Given the description of an element on the screen output the (x, y) to click on. 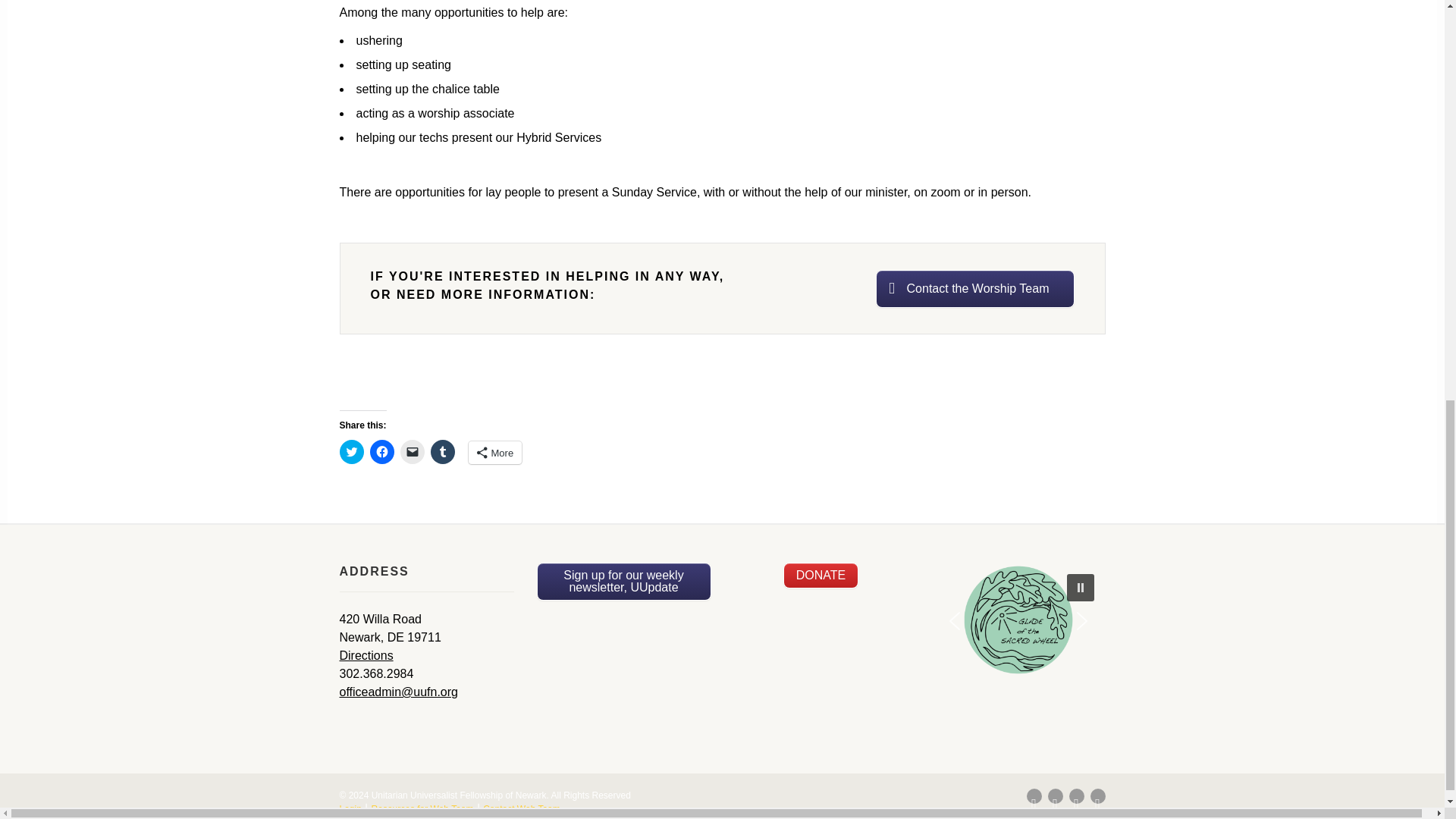
Click to share on Facebook (381, 451)
Click to email a link to a friend (412, 451)
Click to share on Twitter (351, 451)
Click to share on Tumblr (442, 451)
